Given the description of an element on the screen output the (x, y) to click on. 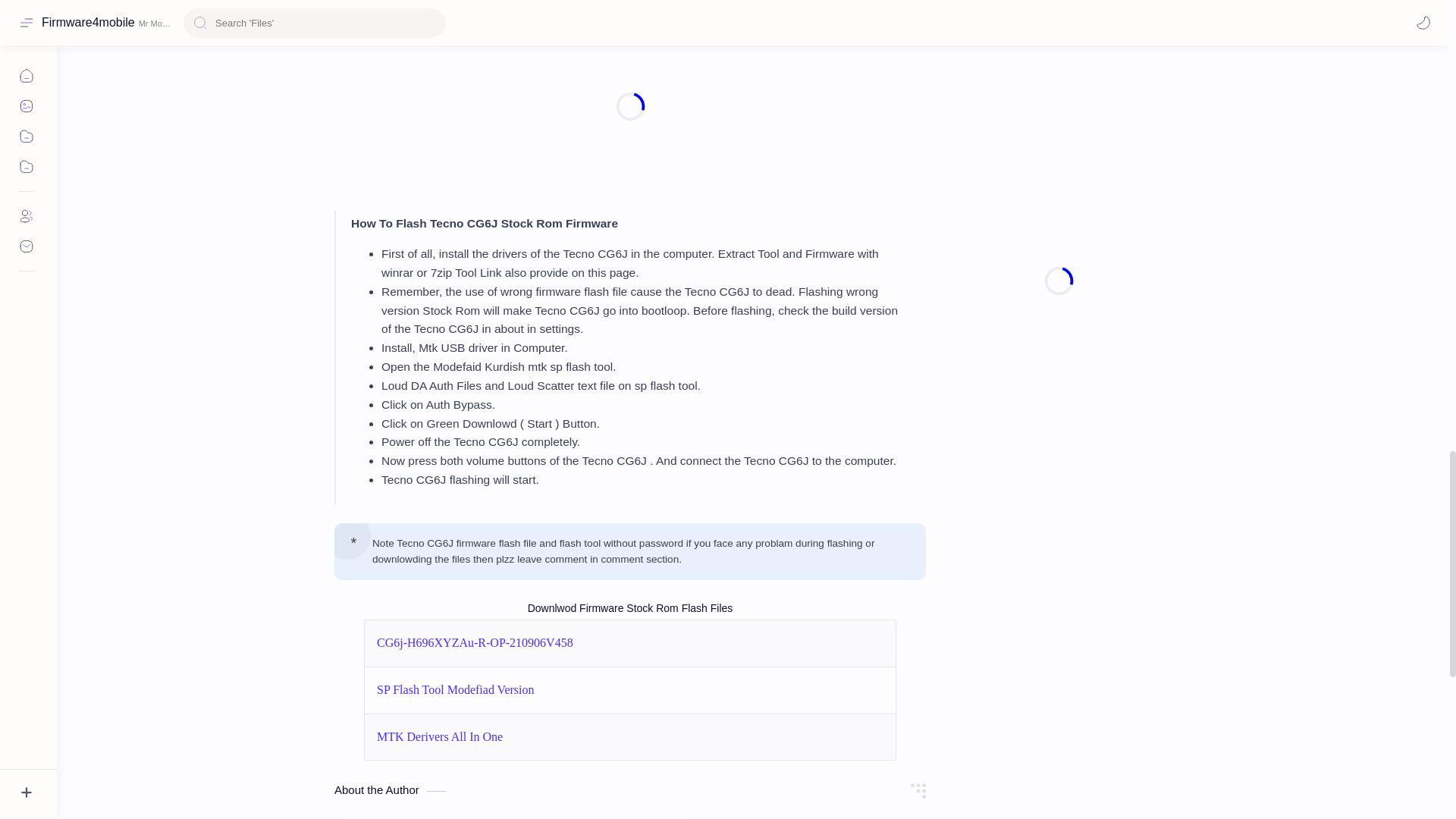
MTK Derivers All In One (439, 736)
CG6j-H696XYZAu-R-OP-210906V458 (475, 642)
SP Flash Tool Modefiad Version (455, 689)
